Given the description of an element on the screen output the (x, y) to click on. 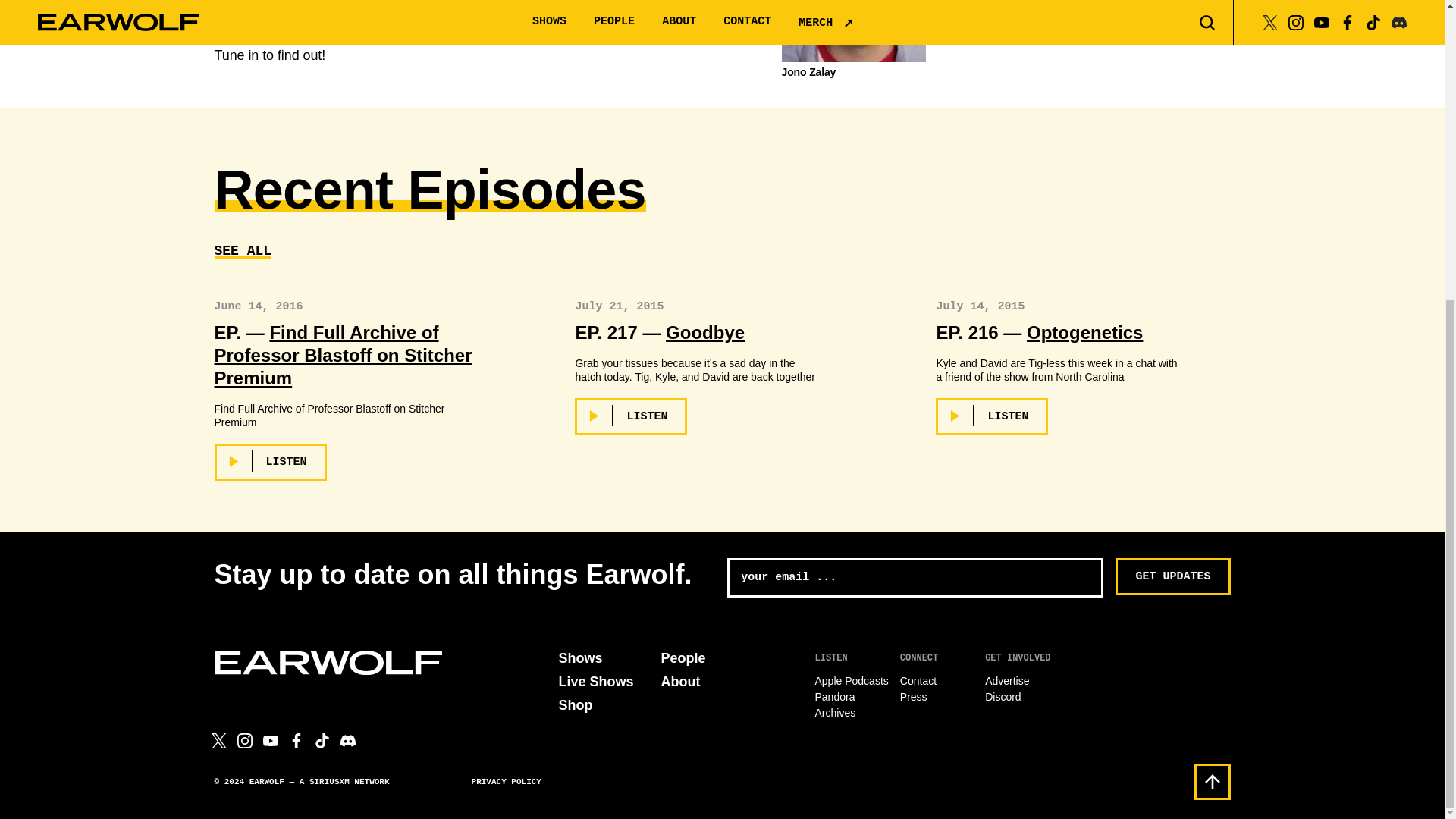
LISTEN (631, 416)
Jono Zalay (853, 71)
Find Full Archive of Professor Blastoff on Stitcher Premium (342, 355)
Get Updates (1172, 576)
SEE ALL (242, 250)
LISTEN (270, 461)
Goodbye (704, 332)
Optogenetics (1084, 332)
Get Updates (1172, 576)
Shows (579, 657)
Live Shows (595, 681)
Shop (574, 704)
LISTEN (992, 416)
Earwolf (327, 662)
